Given the description of an element on the screen output the (x, y) to click on. 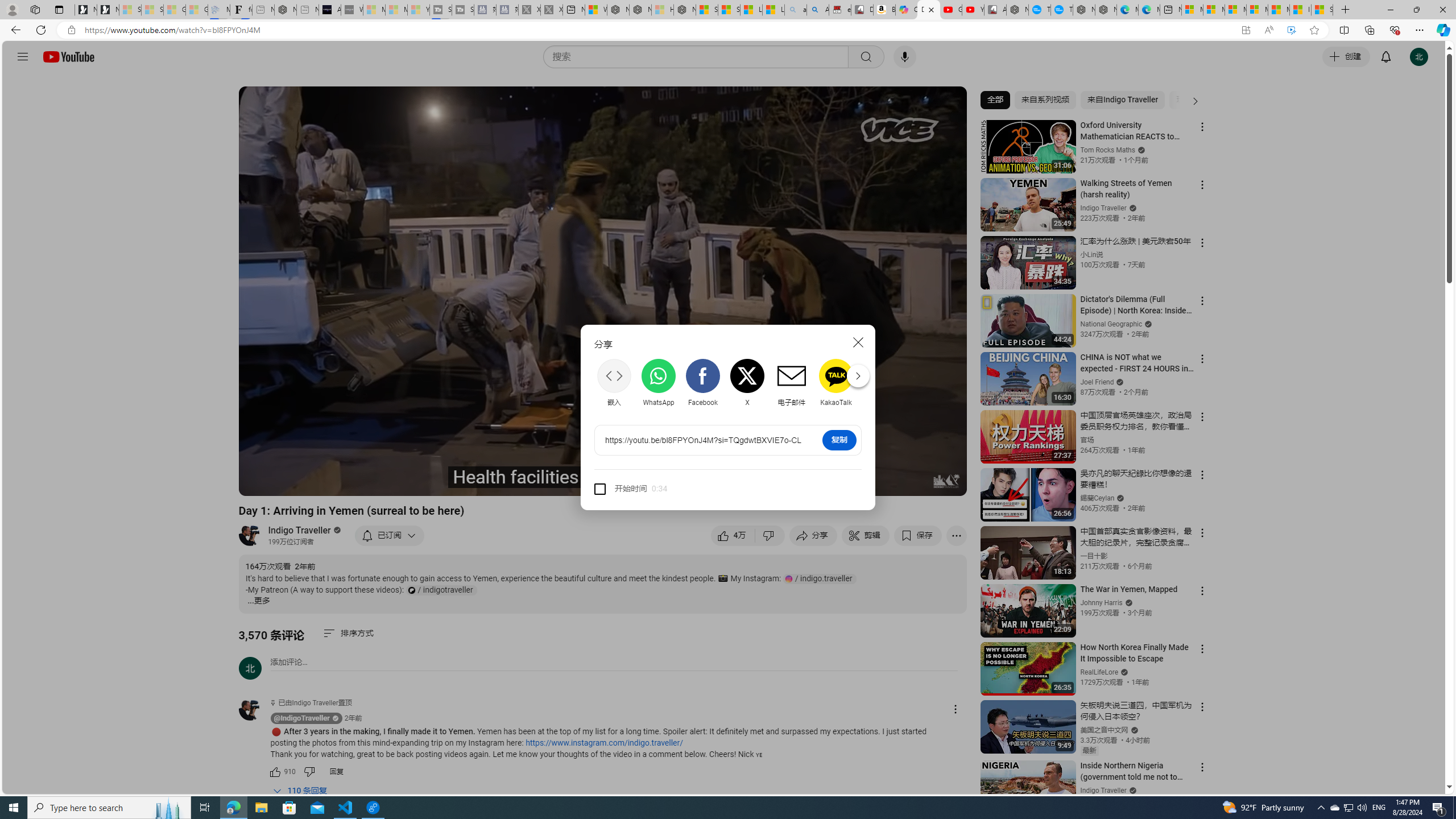
@IndigoTraveller (301, 718)
Nordace - My Account (1017, 9)
https://www.instagram.com/indigo.traveller/ (603, 742)
